Given the description of an element on the screen output the (x, y) to click on. 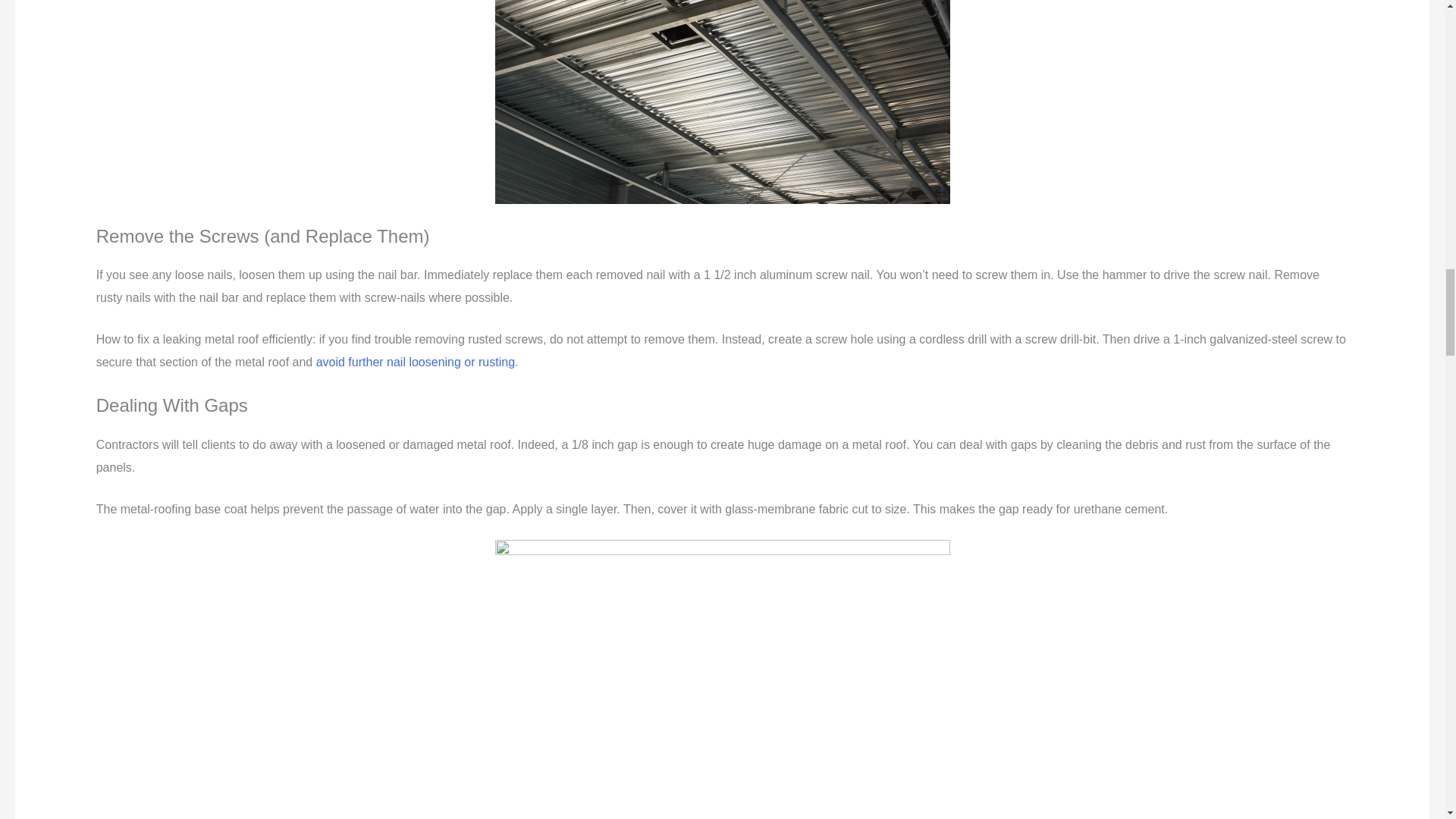
avoid further nail loosening or rusting (415, 361)
